Given the description of an element on the screen output the (x, y) to click on. 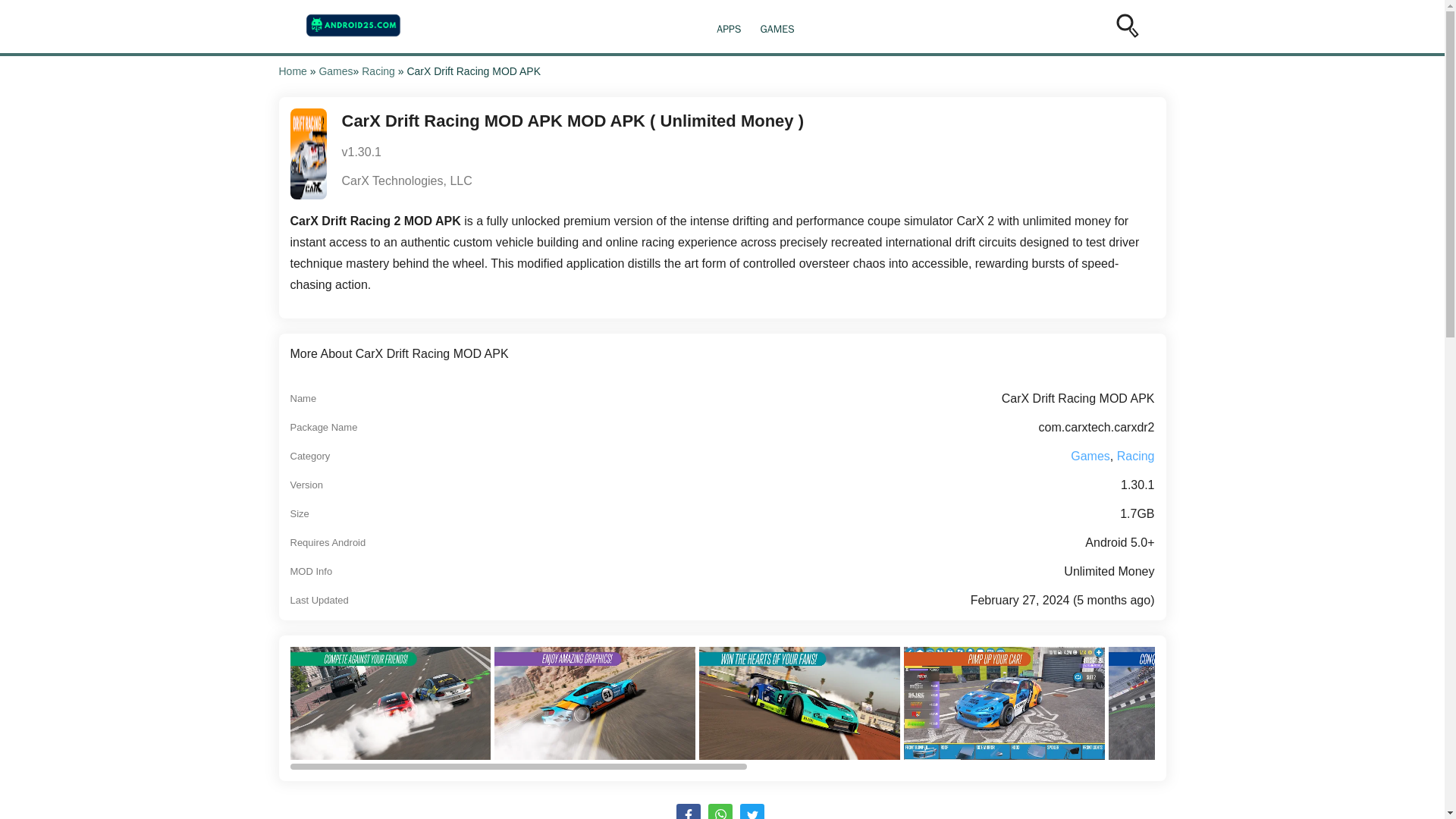
Racing (1135, 454)
Games (335, 70)
Games (1089, 454)
GAMES (777, 29)
Home (293, 70)
APPS (728, 29)
Racing (377, 70)
